Given the description of an element on the screen output the (x, y) to click on. 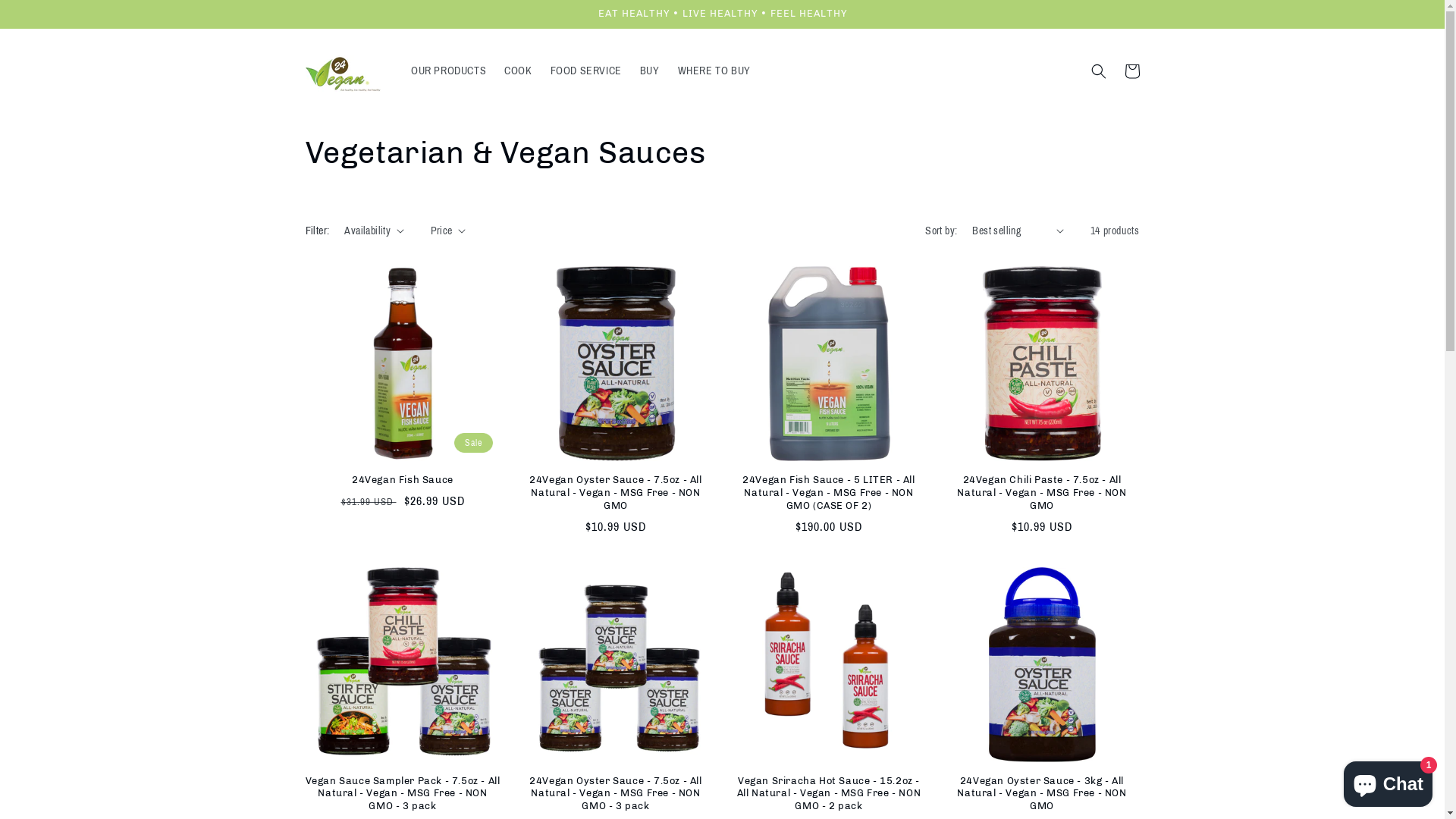
WHERE TO BUY Element type: text (713, 71)
OUR PRODUCTS Element type: text (448, 71)
24Vegan Fish Sauce Element type: text (401, 479)
Shopify online store chat Element type: hover (1388, 780)
FOOD SERVICE Element type: text (585, 71)
Cart Element type: text (1131, 70)
BUY Element type: text (649, 71)
COOK Element type: text (517, 71)
